Given the description of an element on the screen output the (x, y) to click on. 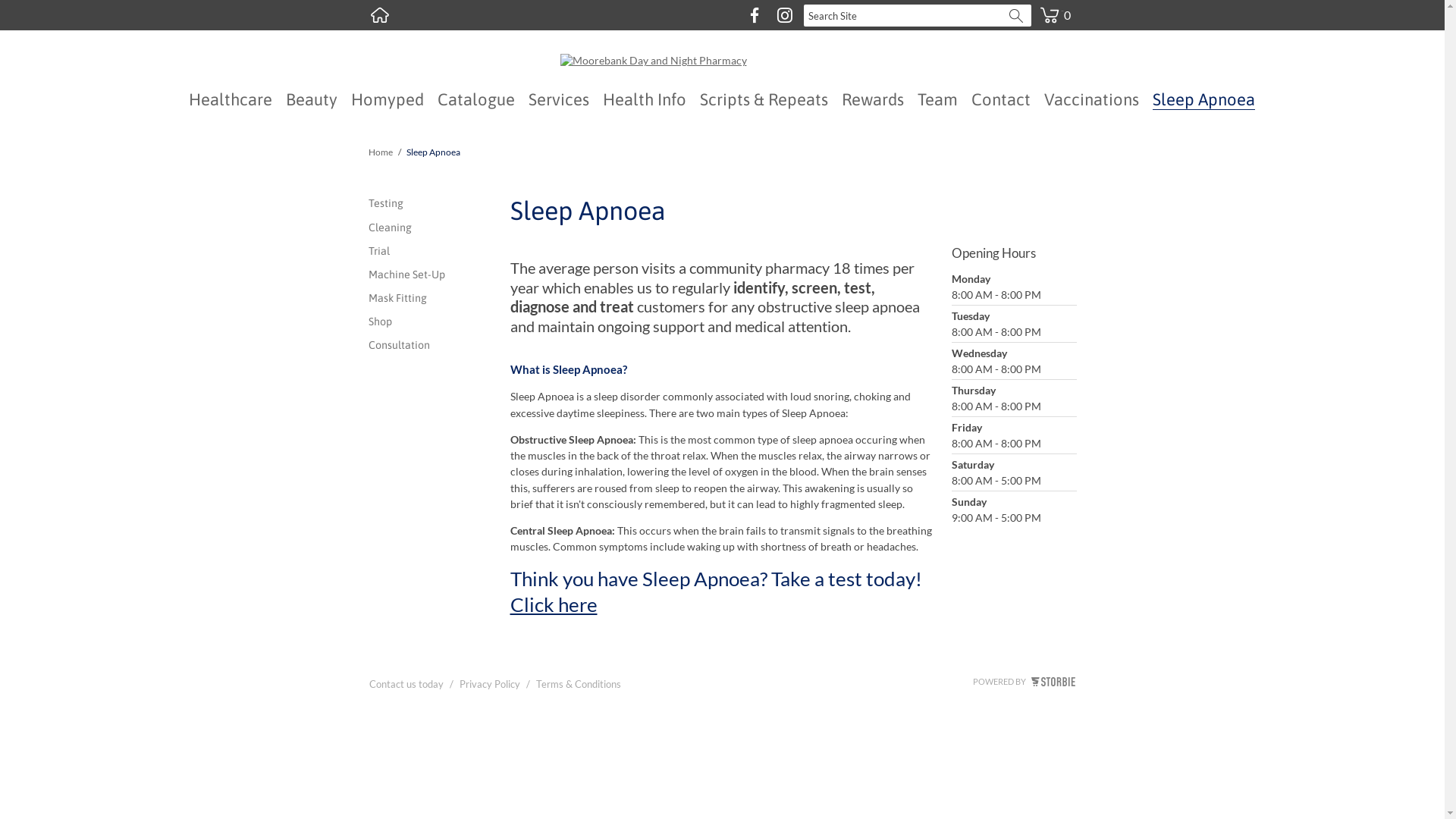
Trial Element type: text (430, 251)
  0 Element type: text (1054, 6)
Home Element type: text (380, 151)
Sleep Apnoea Element type: text (433, 151)
Contact Element type: text (1000, 99)
Consultation Element type: text (430, 345)
Team Element type: text (937, 99)
Healthcare Element type: text (230, 99)
Facebook Element type: hover (753, 15)
Catalogue Element type: text (475, 99)
Contact us today Element type: text (405, 687)
Sleep Apnoea Element type: text (1203, 99)
POWERED BY Element type: text (1023, 681)
Instagram Element type: hover (783, 15)
Click here Element type: text (552, 604)
Privacy Policy Element type: text (489, 687)
Mask Fitting Element type: text (430, 298)
Services Element type: text (558, 99)
Shop Element type: text (430, 321)
Health Info Element type: text (644, 99)
Beauty Element type: text (311, 99)
Home Element type: hover (379, 15)
Machine Set-Up Element type: text (430, 274)
Vaccinations Element type: text (1091, 99)
Testing Element type: text (430, 203)
Homyped Element type: text (387, 99)
Cleaning Element type: text (430, 227)
Rewards Element type: text (872, 99)
Terms & Conditions Element type: text (577, 687)
  Element type: text (379, 15)
Scripts & Repeats Element type: text (763, 99)
